Given the description of an element on the screen output the (x, y) to click on. 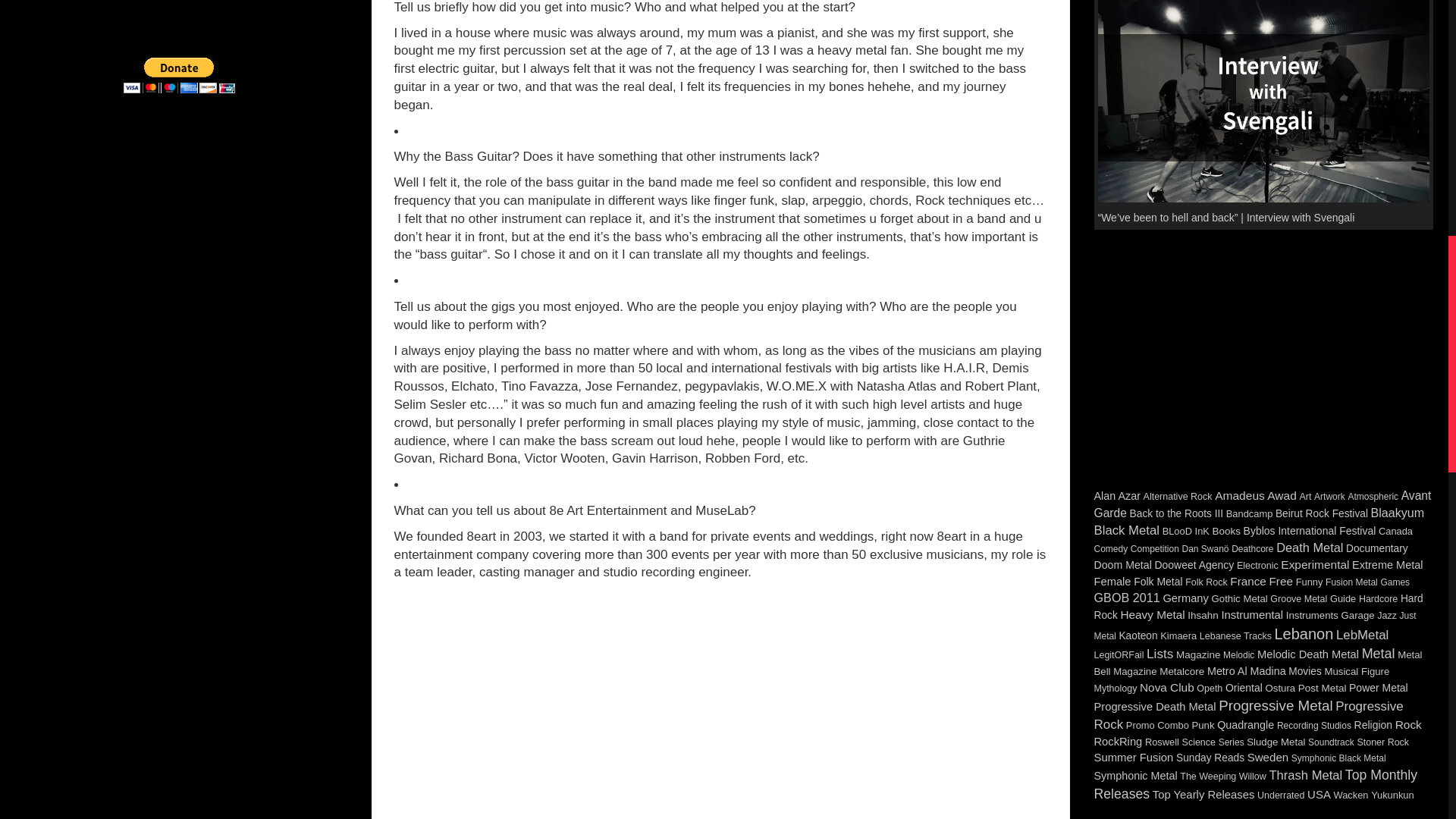
Alan Azar (1116, 495)
Alternative Rock (1177, 496)
Advertisement (1264, 358)
Advertisement (1262, 373)
